Given the description of an element on the screen output the (x, y) to click on. 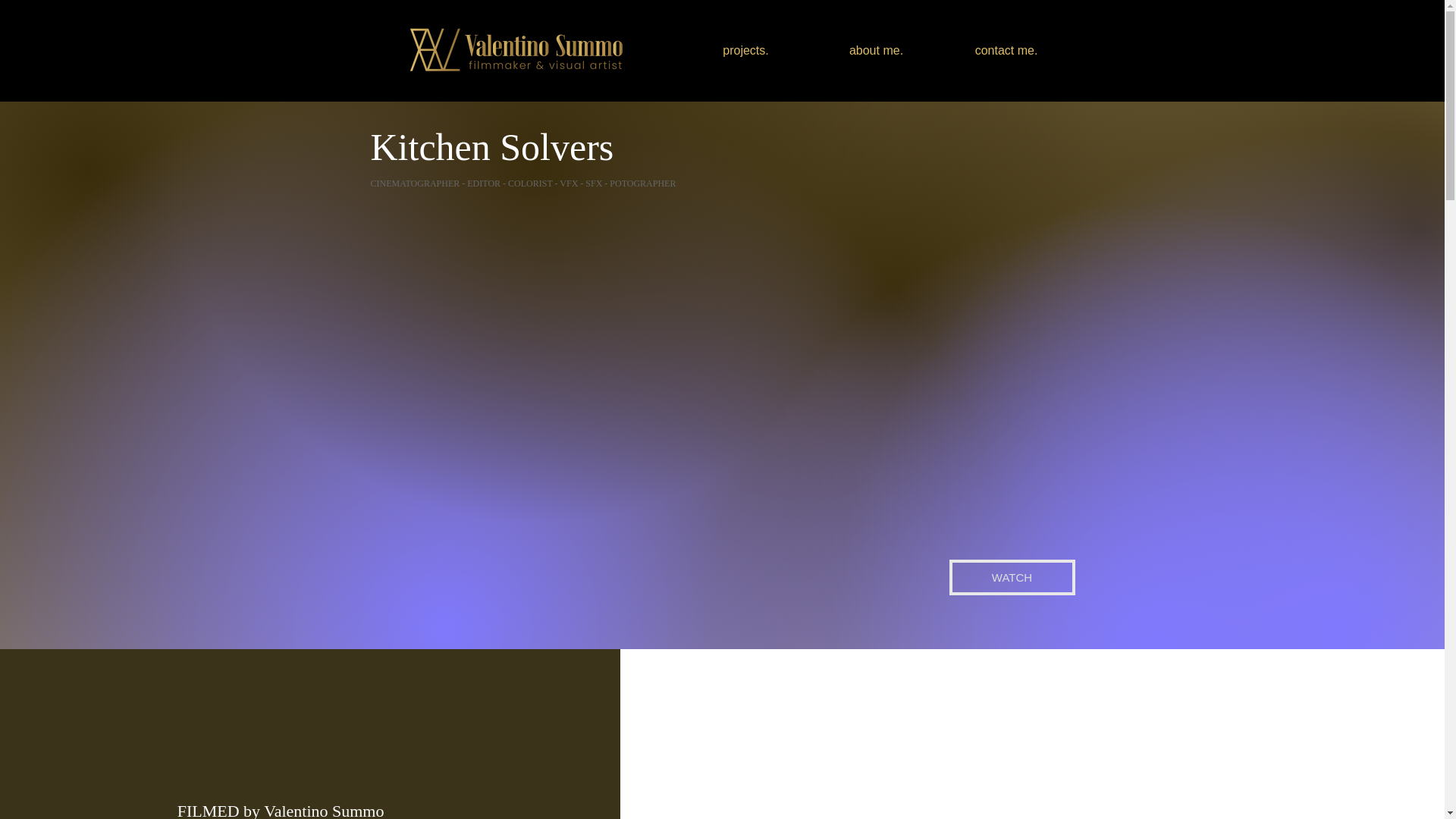
about me. (876, 50)
WATCH (1012, 577)
projects. (745, 50)
contact me. (1006, 50)
